Given the description of an element on the screen output the (x, y) to click on. 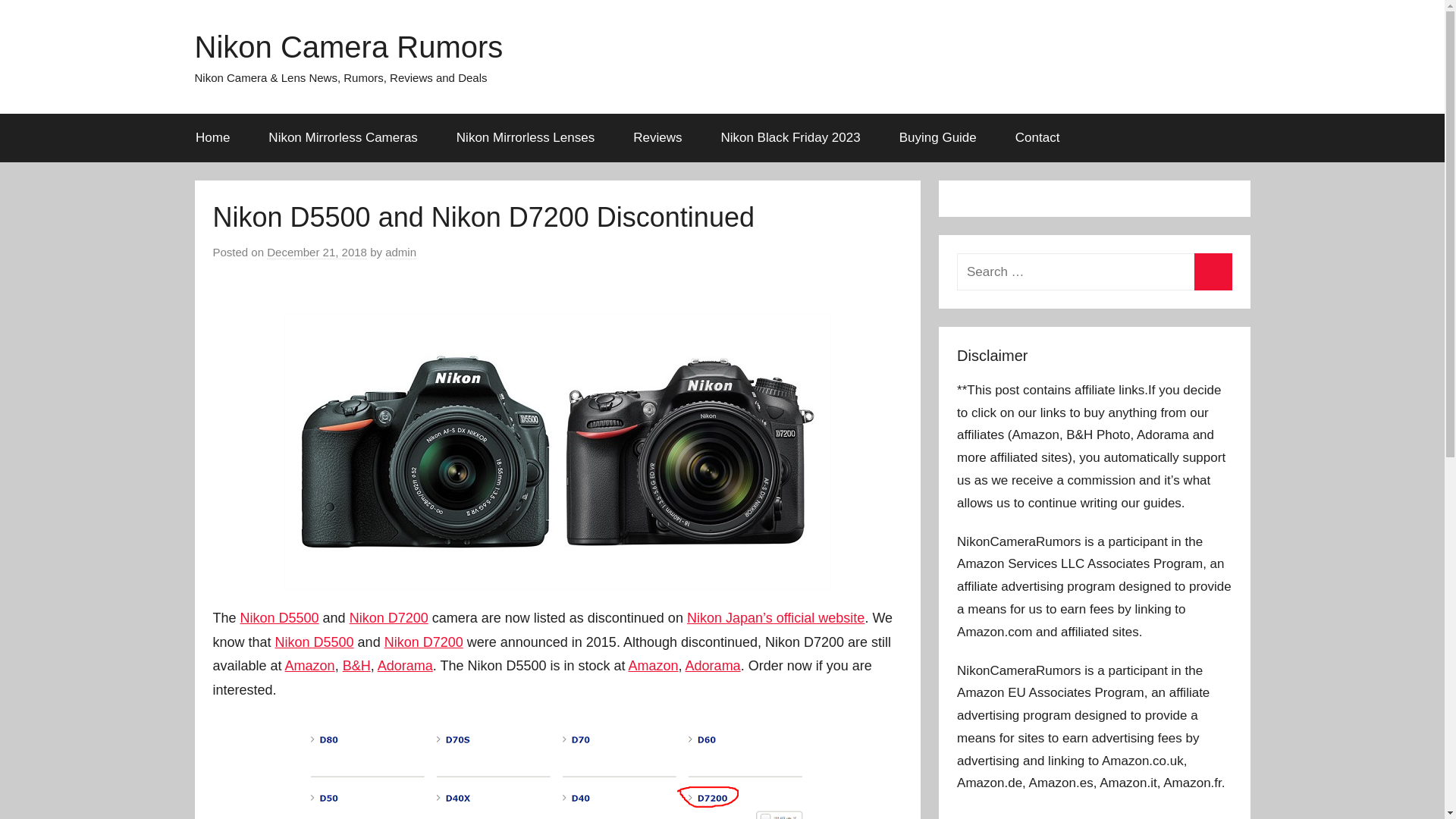
Nikon D7200 (388, 617)
Reviews (657, 137)
Nikon D5500 (279, 617)
Nikon D5500 (314, 642)
Home (212, 137)
admin (400, 252)
Nikon Mirrorless Lenses (524, 137)
Contact (1036, 137)
Buying Guide (937, 137)
Amazon (653, 665)
